Given the description of an element on the screen output the (x, y) to click on. 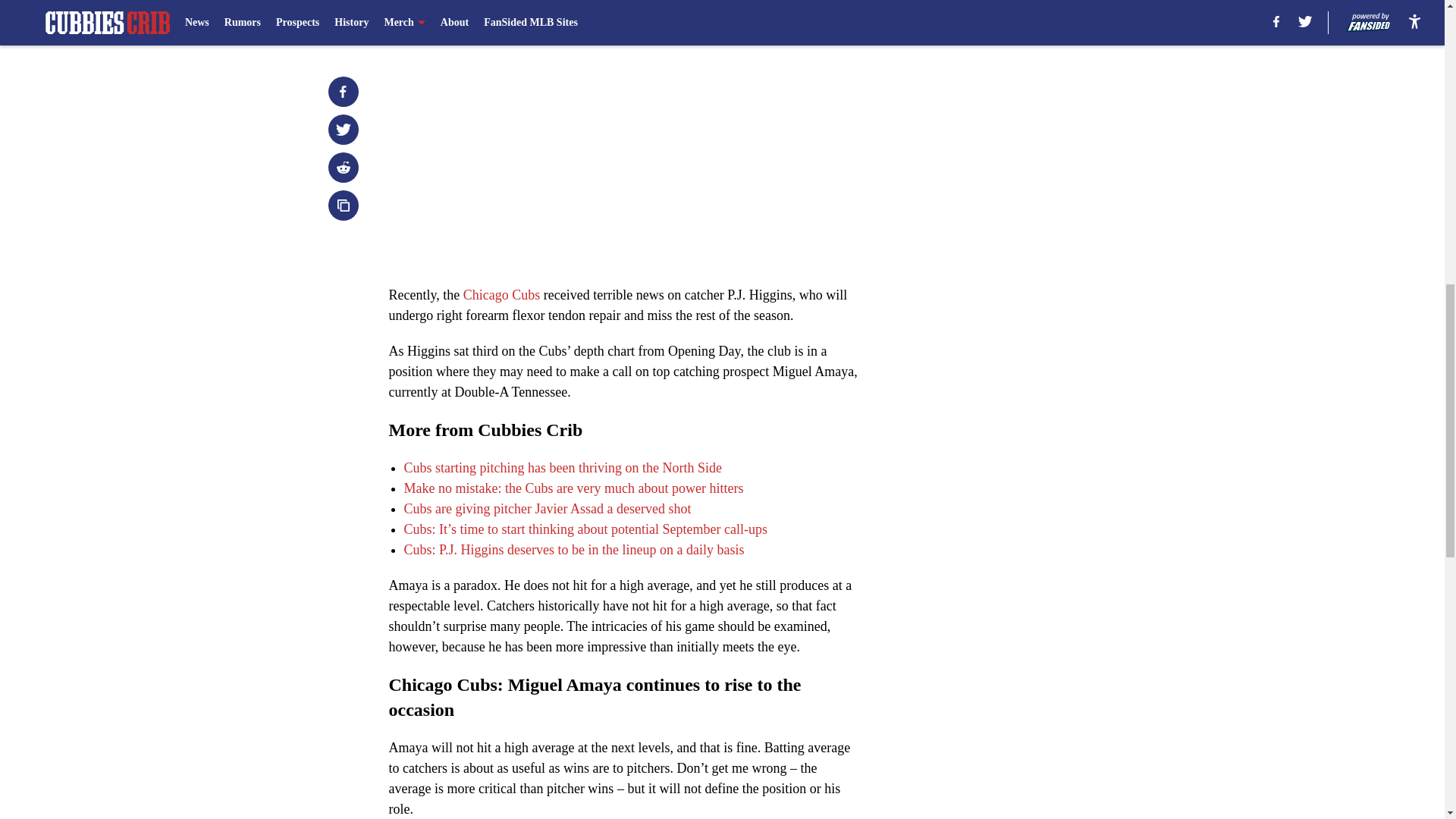
Chicago Cubs (501, 294)
Make no mistake: the Cubs are very much about power hitters (572, 488)
Cubs starting pitching has been thriving on the North Side (561, 467)
Cubs are giving pitcher Javier Assad a deserved shot (546, 508)
